Given the description of an element on the screen output the (x, y) to click on. 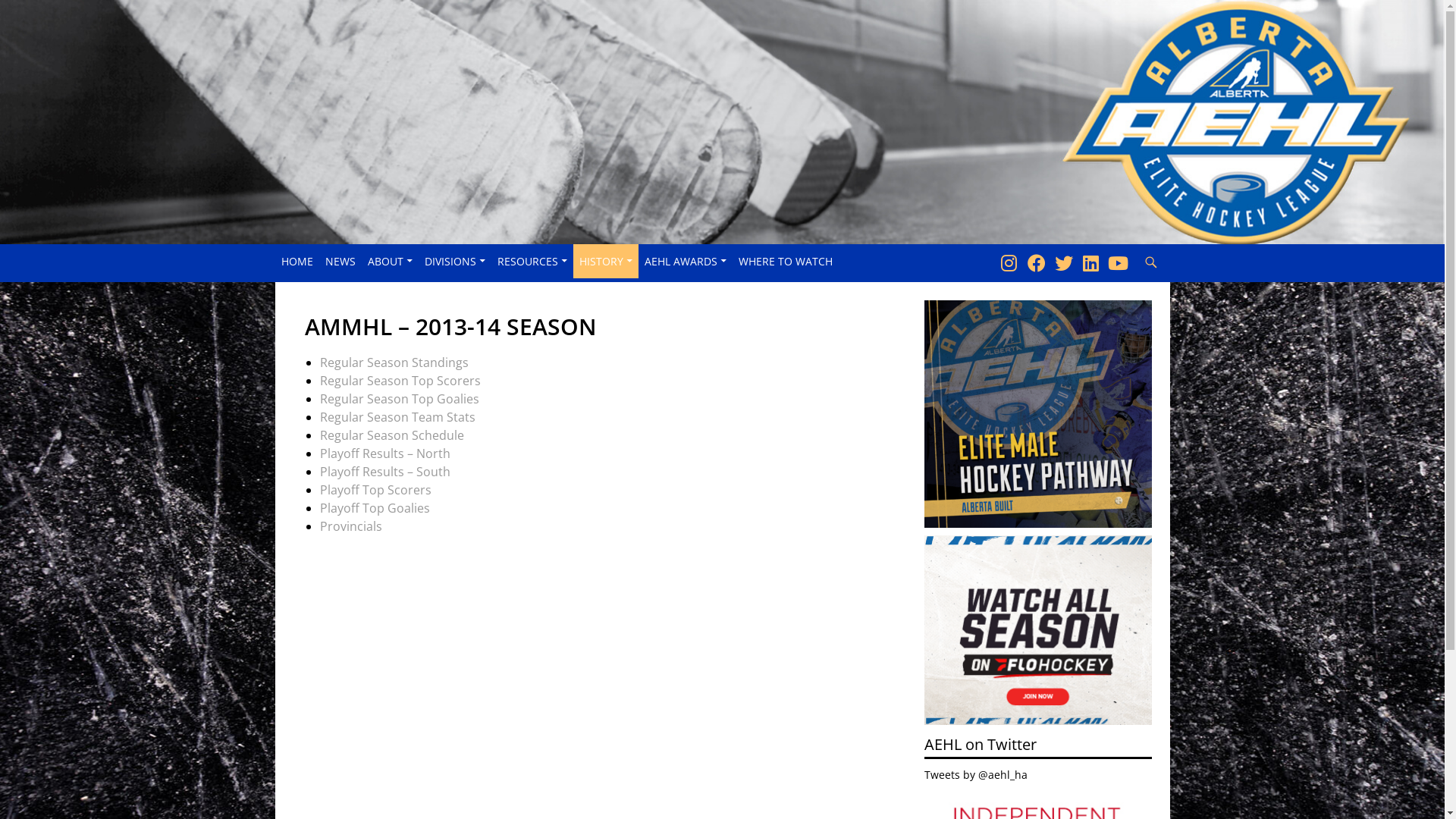
Regular Season Top Goalies Element type: text (399, 398)
Regular Season Team Stats Element type: text (397, 416)
Regular Season Schedule Element type: text (392, 434)
Twitter Element type: hover (1063, 262)
WHERE TO WATCH Element type: text (785, 261)
Facebook Element type: hover (1035, 262)
NEWS Element type: text (339, 261)
Instagram Element type: hover (1008, 262)
LinkedIn Element type: hover (1090, 262)
Tweets by @aehl_ha Element type: text (975, 774)
Regular Season Top Scorers Element type: text (400, 380)
Regular Season Standings Element type: text (394, 362)
Search Element type: text (1134, 243)
YouTube Element type: hover (1117, 262)
AEHL AWARDS Element type: text (685, 261)
HOME Element type: text (296, 261)
HISTORY Element type: text (605, 261)
RESOURCES Element type: text (532, 261)
Provincials Element type: text (351, 525)
Playoff Top Scorers Element type: text (375, 489)
Playoff Top Goalies Element type: text (374, 507)
DIVISIONS Element type: text (454, 261)
ABOUT Element type: text (388, 261)
